Given the description of an element on the screen output the (x, y) to click on. 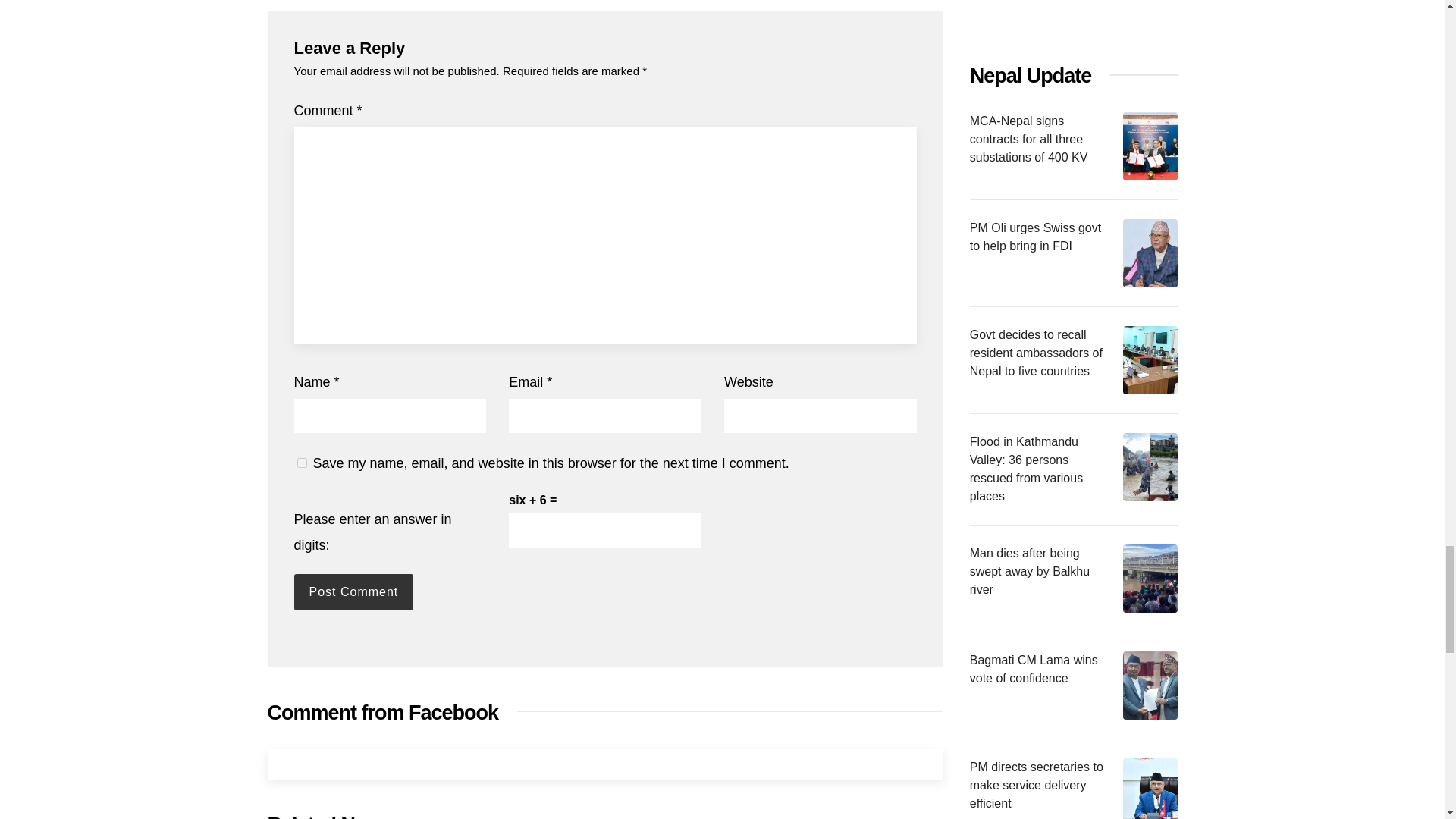
Post Comment (353, 592)
yes (302, 462)
